Given the description of an element on the screen output the (x, y) to click on. 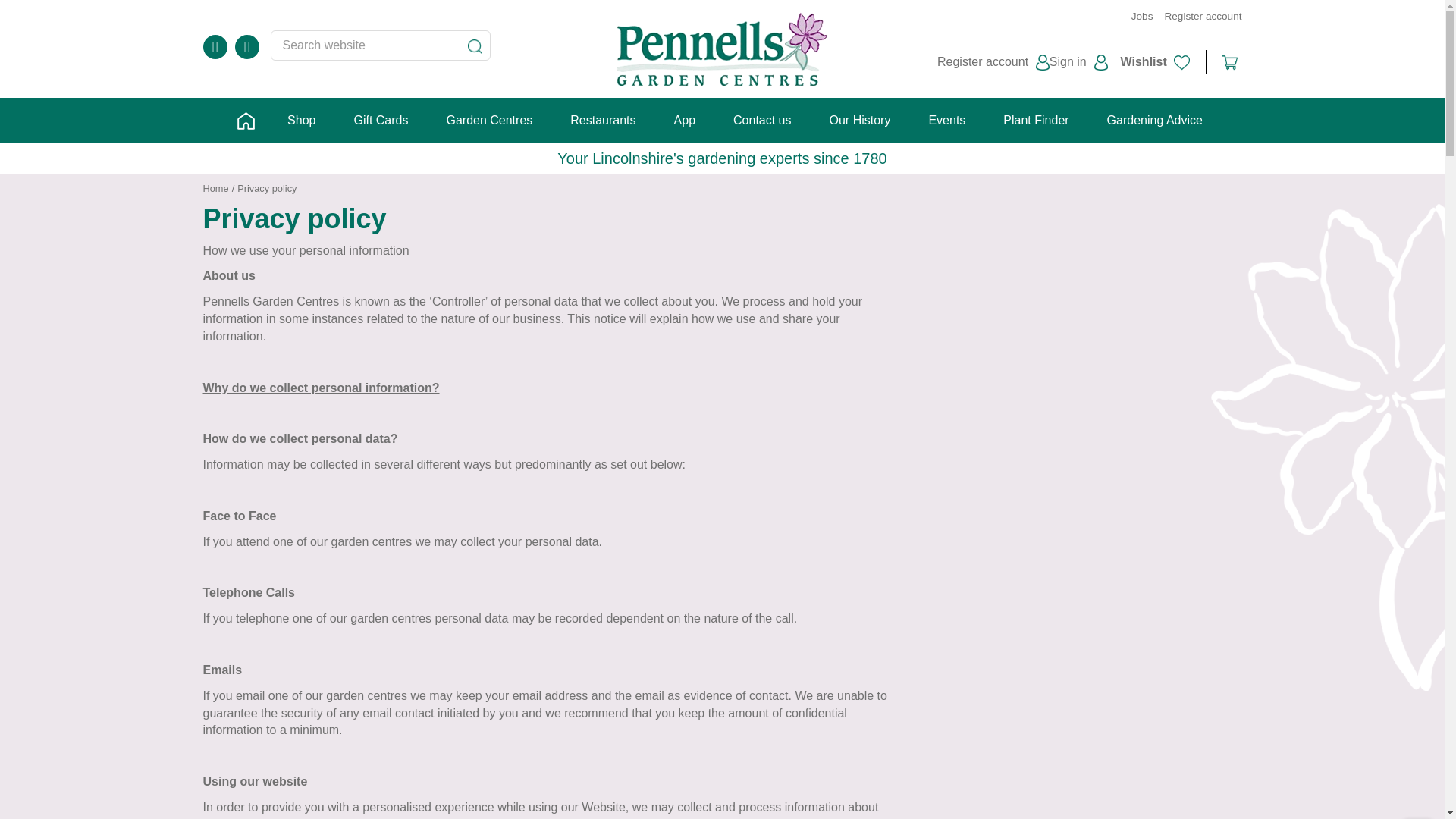
Search (474, 46)
Wishlist (1144, 61)
Home (215, 188)
Restaurants (602, 120)
Gift Cards (380, 120)
Home (215, 188)
Privacy policy (267, 188)
Register account (993, 61)
ig (246, 46)
Sign in (1078, 61)
Register account (993, 61)
Sign in (1078, 61)
Go to the shopping cart (1229, 61)
Jobs (1142, 16)
Privacy policy (267, 188)
